Given the description of an element on the screen output the (x, y) to click on. 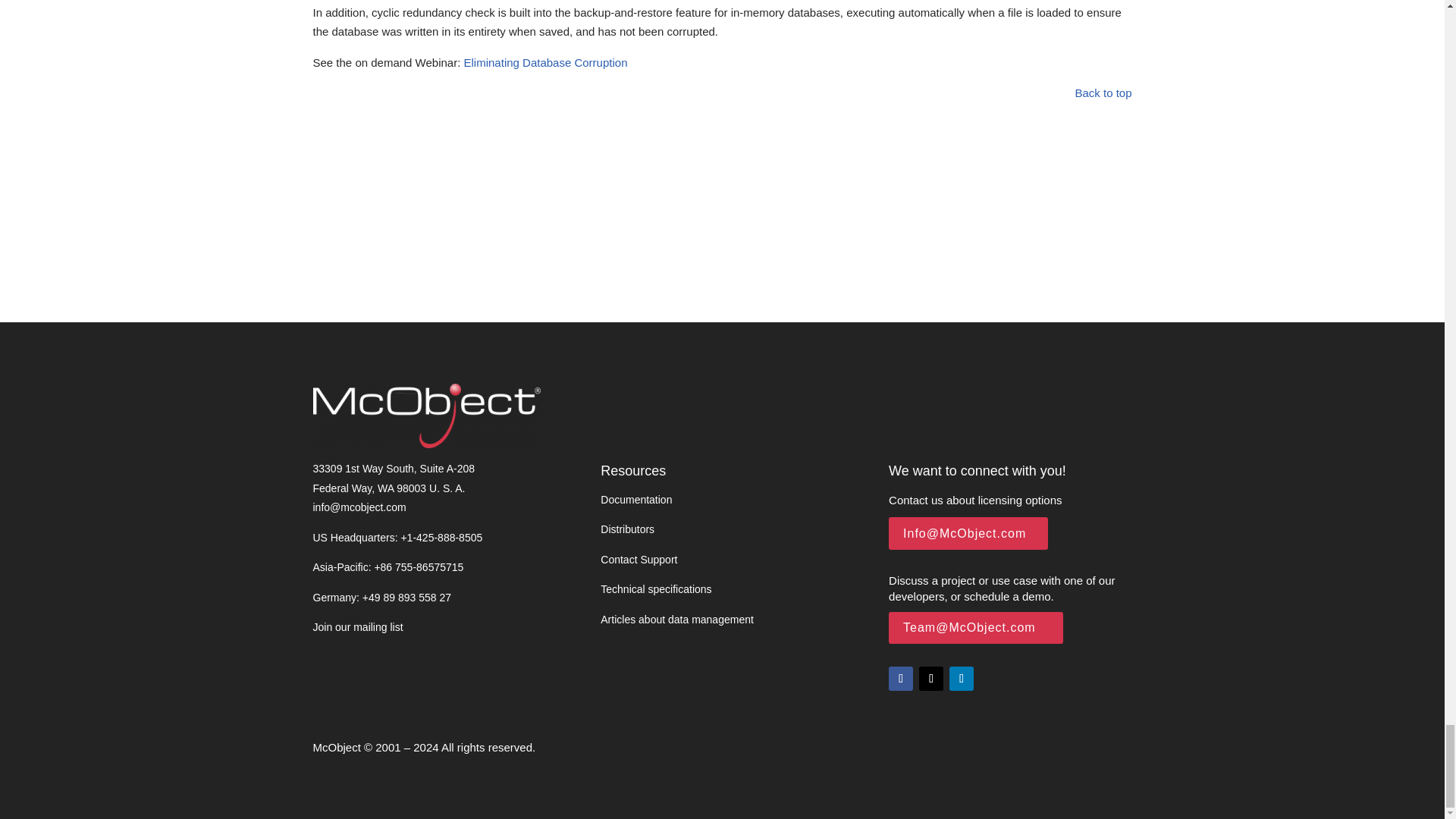
Follow on LinkedIn (961, 678)
Follow on X (930, 678)
Follow on Facebook (900, 678)
McObject logo white 11-21 (426, 415)
